Given the description of an element on the screen output the (x, y) to click on. 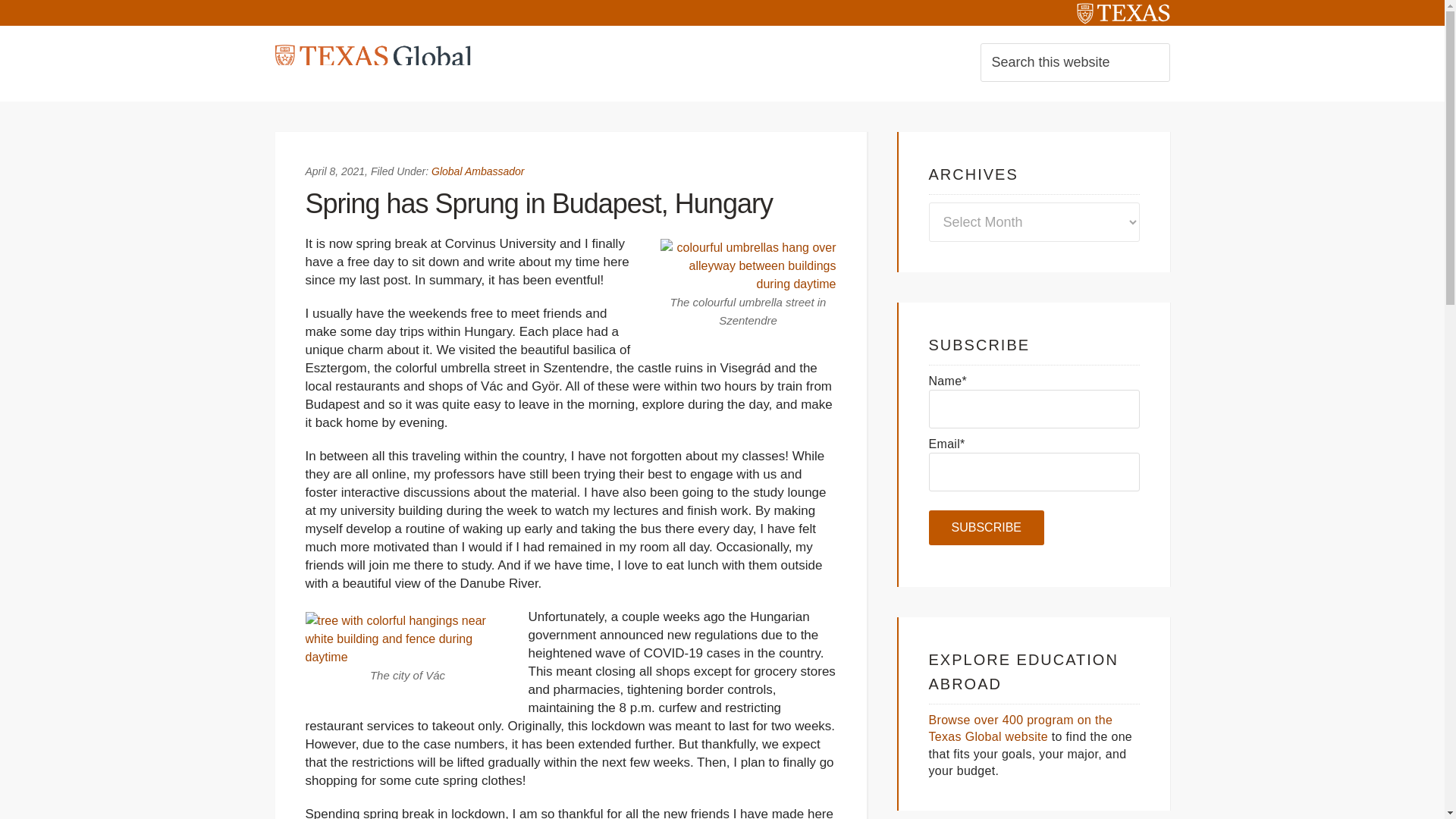
Subscribe (985, 527)
Global Ambassador (477, 171)
Browse over 400 program on the Texas Global website (1020, 727)
Subscribe (985, 527)
